Given the description of an element on the screen output the (x, y) to click on. 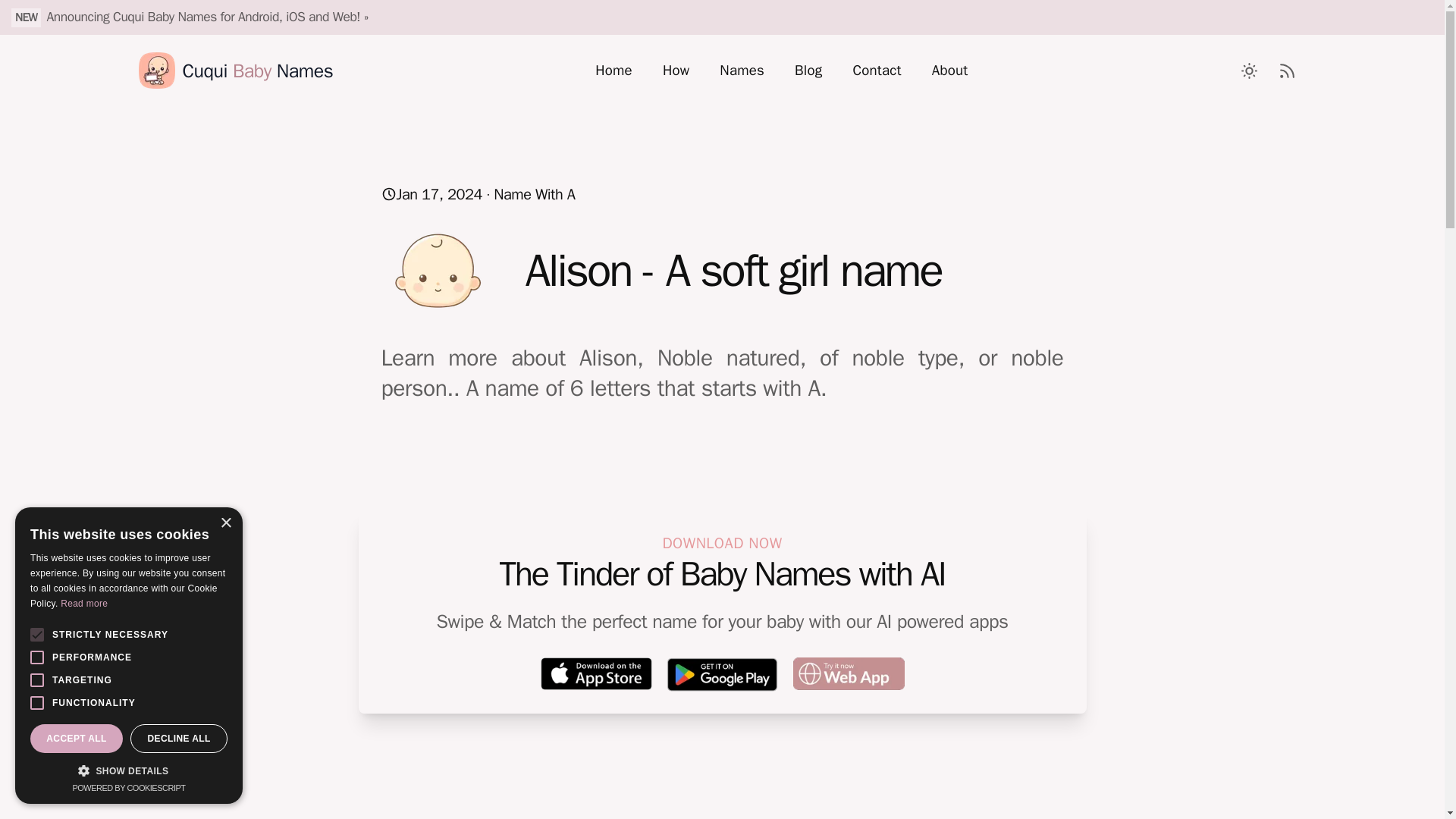
How (675, 70)
Cuqui Baby Names (235, 70)
Contact (876, 70)
Blog (807, 70)
Home (613, 70)
Consent Management Platform (127, 787)
Name With A (534, 194)
About (950, 70)
Names (741, 70)
